Given the description of an element on the screen output the (x, y) to click on. 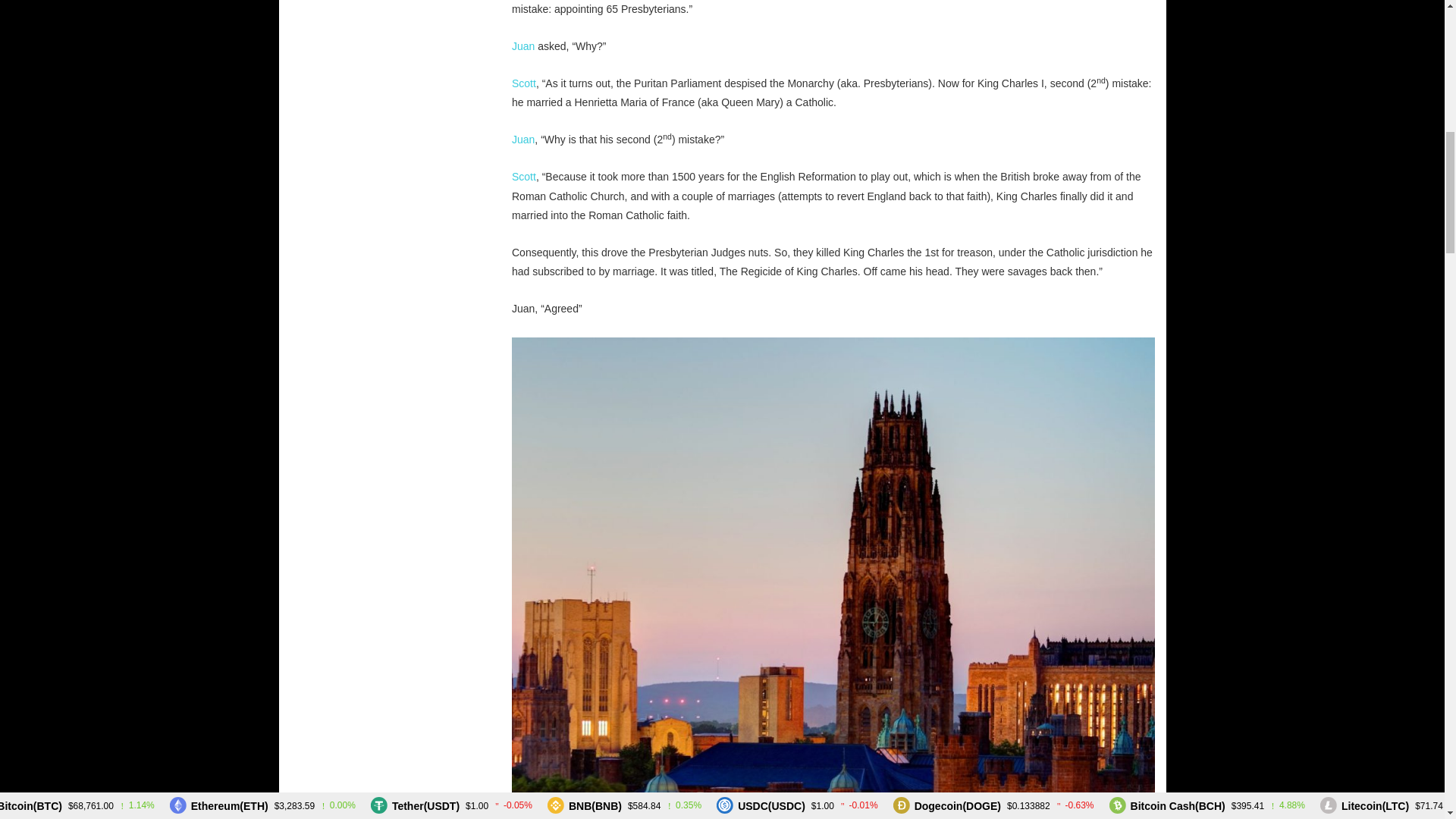
Scott (523, 176)
Juan (523, 46)
Juan (523, 139)
Scott (523, 82)
